Given the description of an element on the screen output the (x, y) to click on. 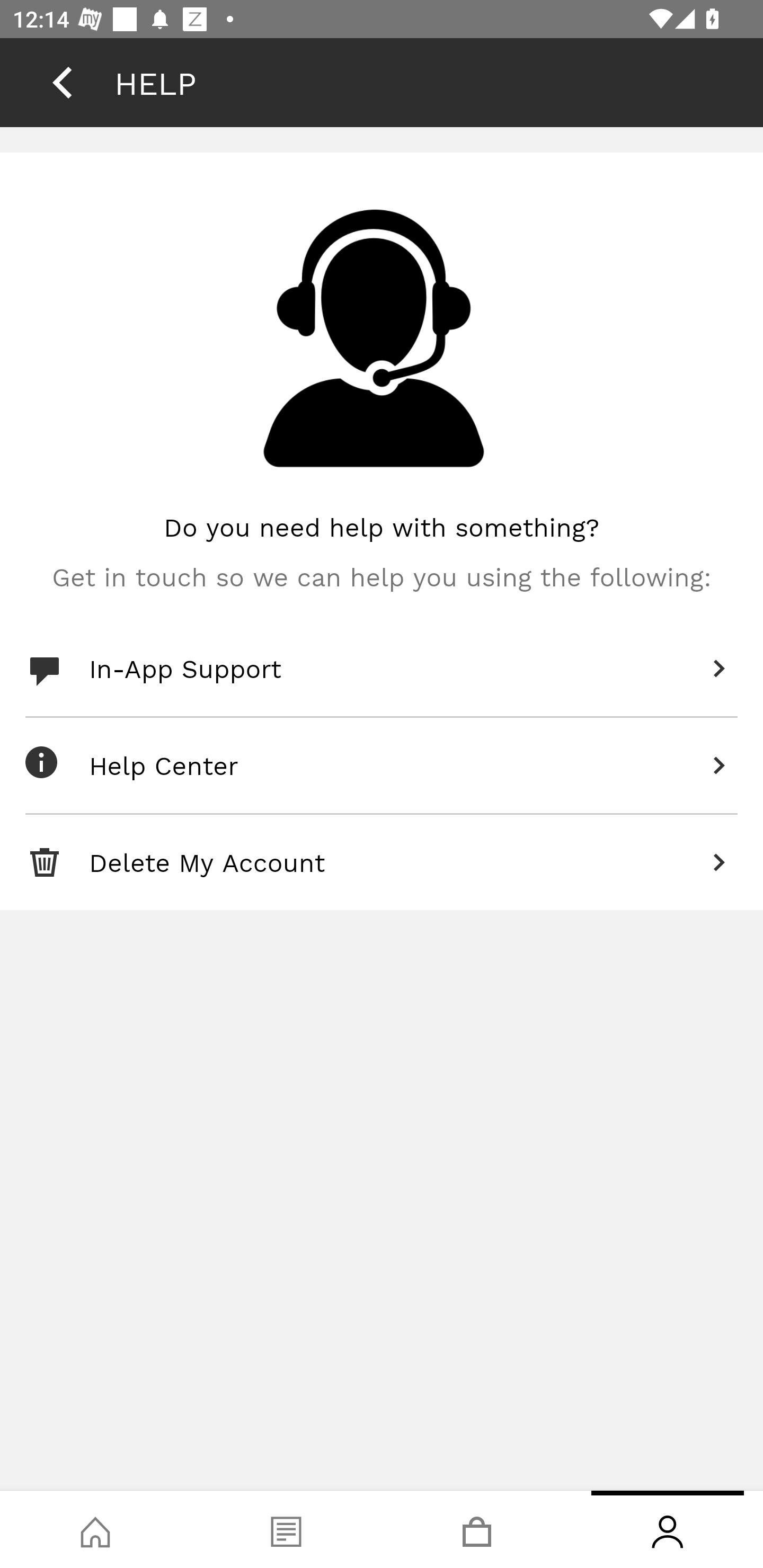
ACCOUNT, back (61, 82)
In-App Support (381, 668)
Help Center (381, 765)
Delete My Account (381, 862)
Shop, tab, 1 of 4 (95, 1529)
Blog, tab, 2 of 4 (285, 1529)
Basket, tab, 3 of 4 (476, 1529)
Account, tab, 4 of 4 (667, 1529)
